Given the description of an element on the screen output the (x, y) to click on. 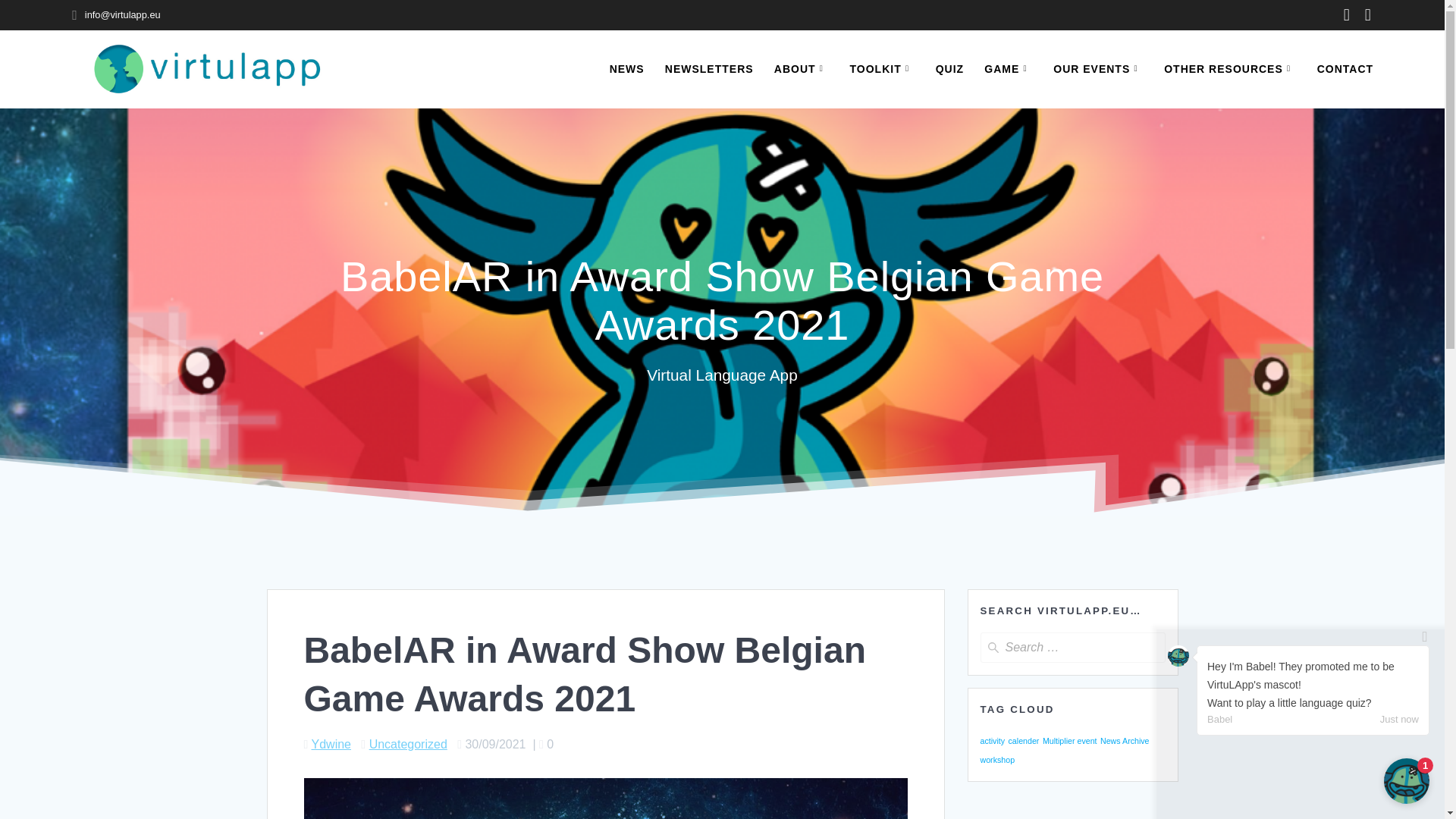
GAME (1008, 68)
NEWS (627, 68)
OUR EVENTS (1097, 68)
Maximize (1406, 780)
QUIZ (949, 68)
Posts by Ydwine (330, 744)
NEWSLETTERS (709, 68)
TOOLKIT (882, 68)
ABOUT (801, 68)
